Given the description of an element on the screen output the (x, y) to click on. 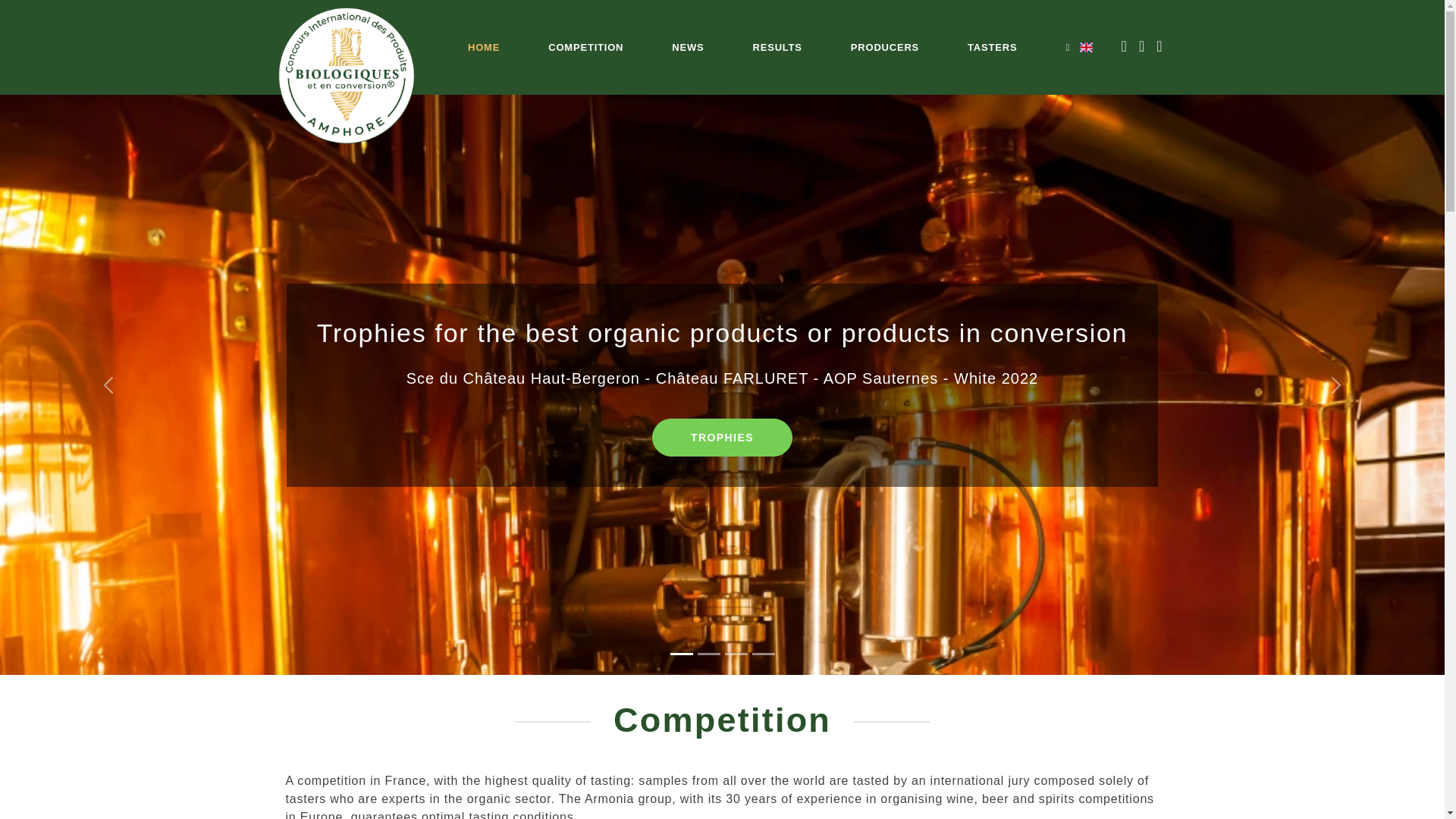
NEWS (687, 47)
RESULTS (776, 47)
COMPETITION (584, 47)
PRODUCERS (884, 47)
HOME (483, 47)
TASTERS (991, 47)
TROPHIES (722, 437)
